Given the description of an element on the screen output the (x, y) to click on. 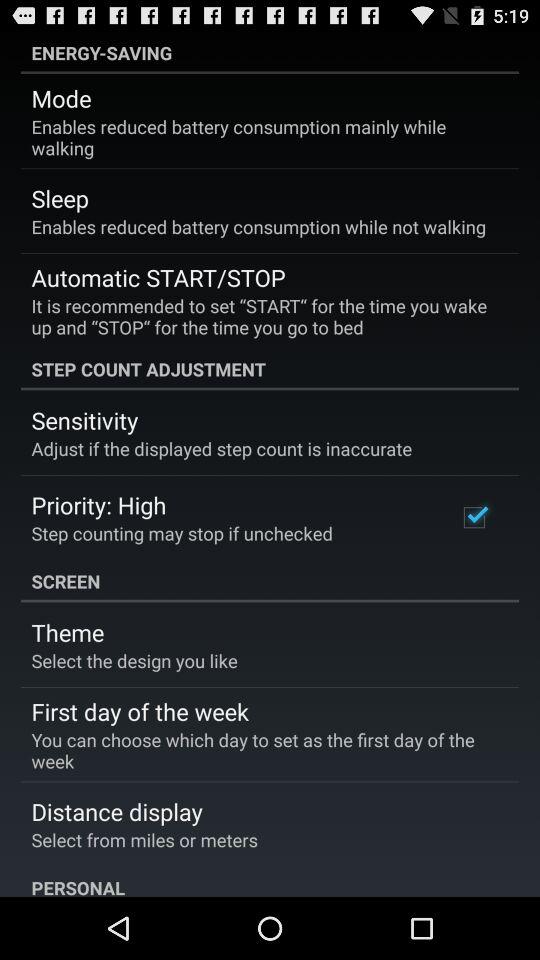
swipe to adjust if the item (221, 448)
